Given the description of an element on the screen output the (x, y) to click on. 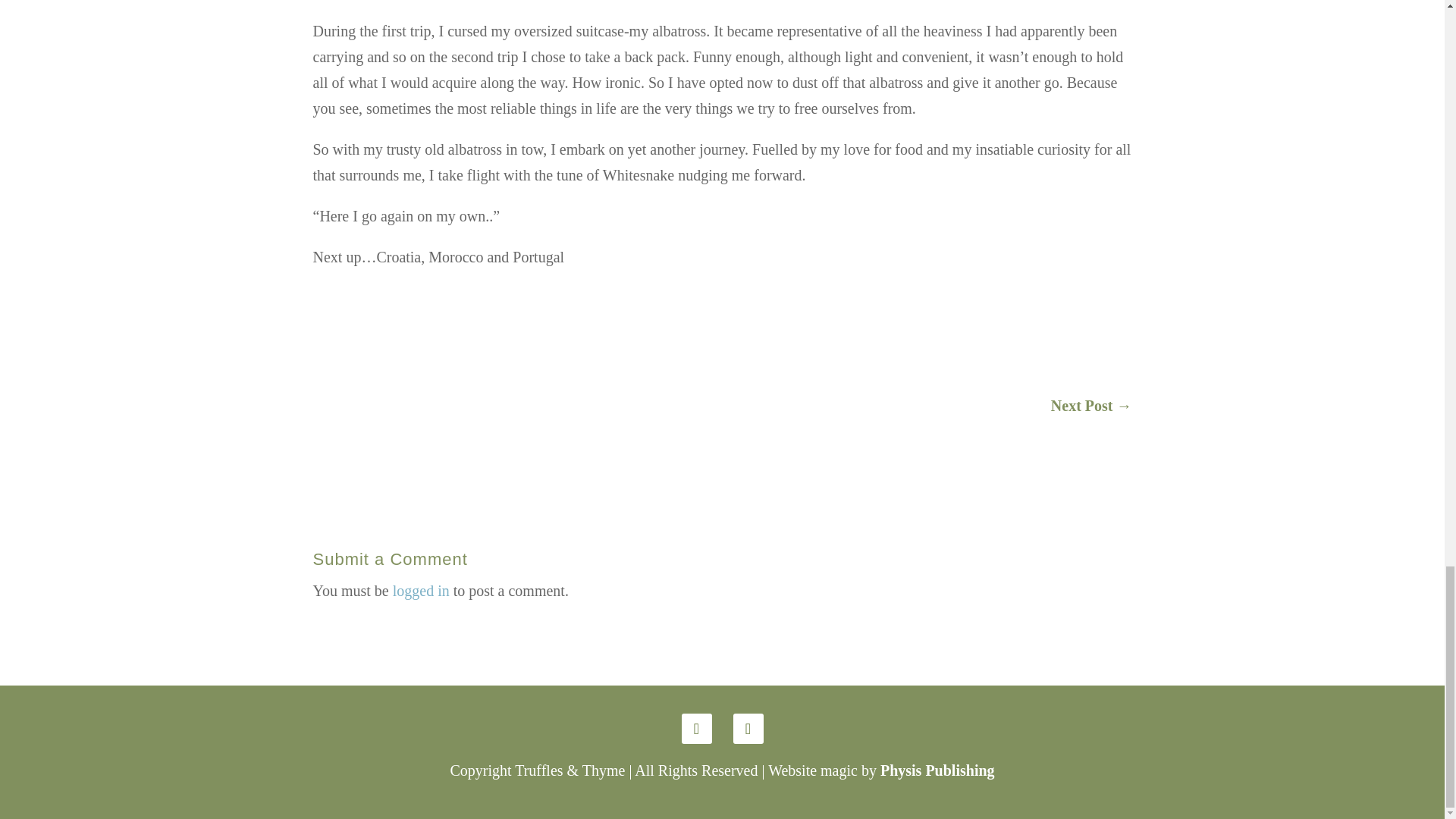
logged in (421, 590)
Follow on Facebook (747, 728)
Follow on Instagram (696, 728)
Physis Publishing (937, 770)
